Given the description of an element on the screen output the (x, y) to click on. 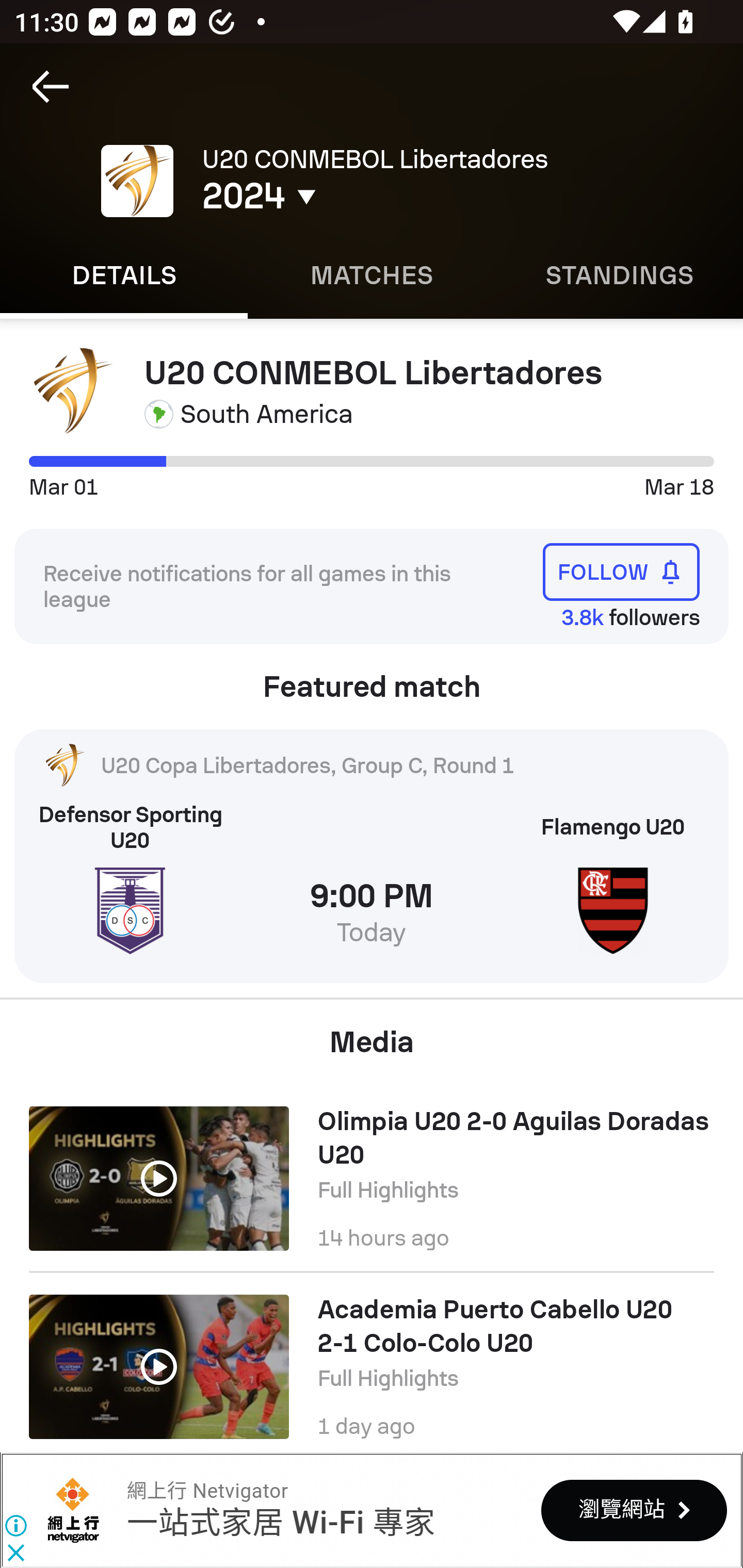
Navigate up (50, 86)
2024 (350, 195)
Matches MATCHES (371, 275)
Standings STANDINGS (619, 275)
FOLLOW (621, 571)
網上行 Netvigator (73, 1510)
網上行 Netvigator (206, 1491)
瀏覽網站 (634, 1509)
一站式家居 Wi-Fi 專家 (279, 1522)
